Given the description of an element on the screen output the (x, y) to click on. 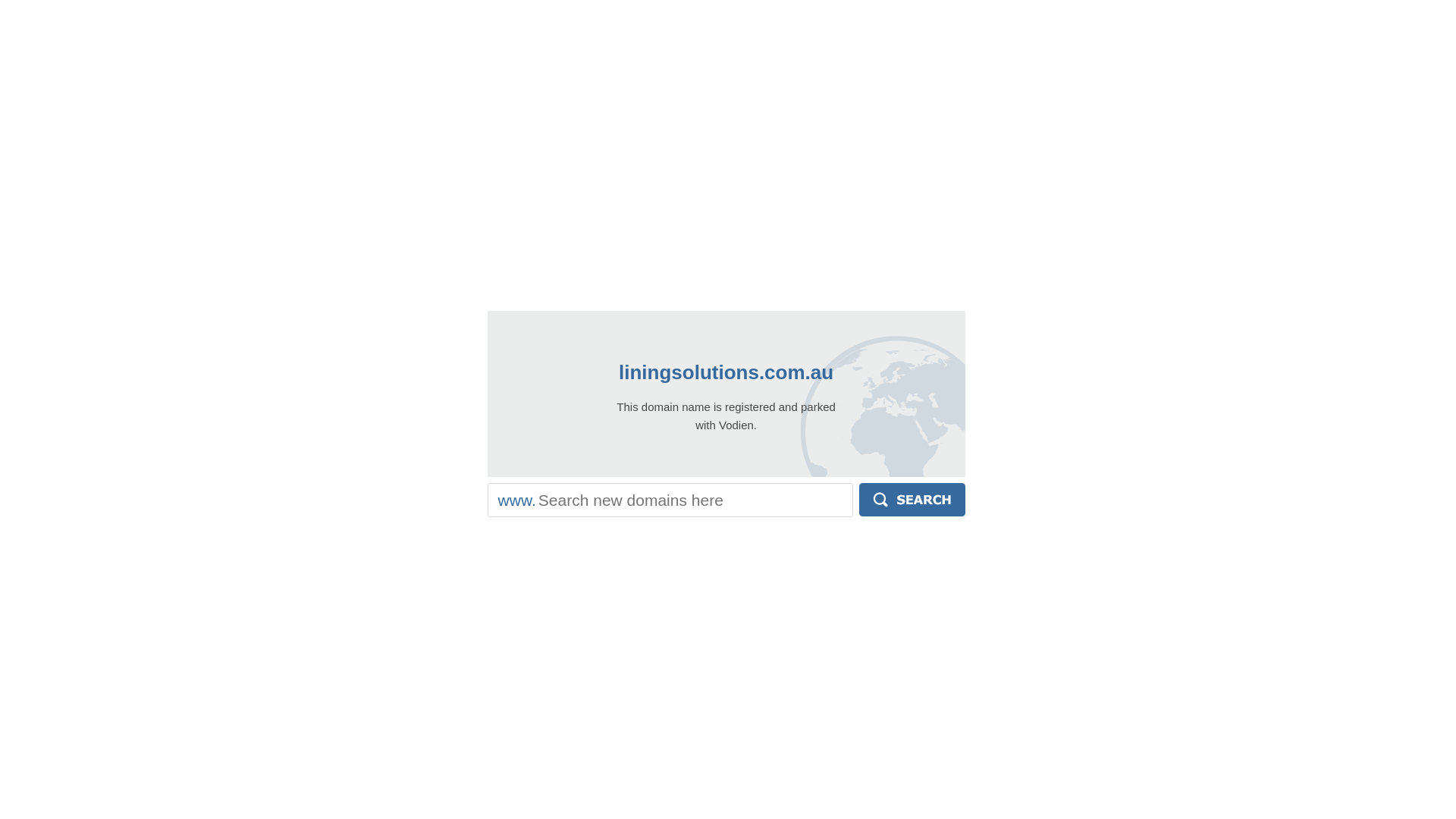
Search Element type: text (912, 499)
